Given the description of an element on the screen output the (x, y) to click on. 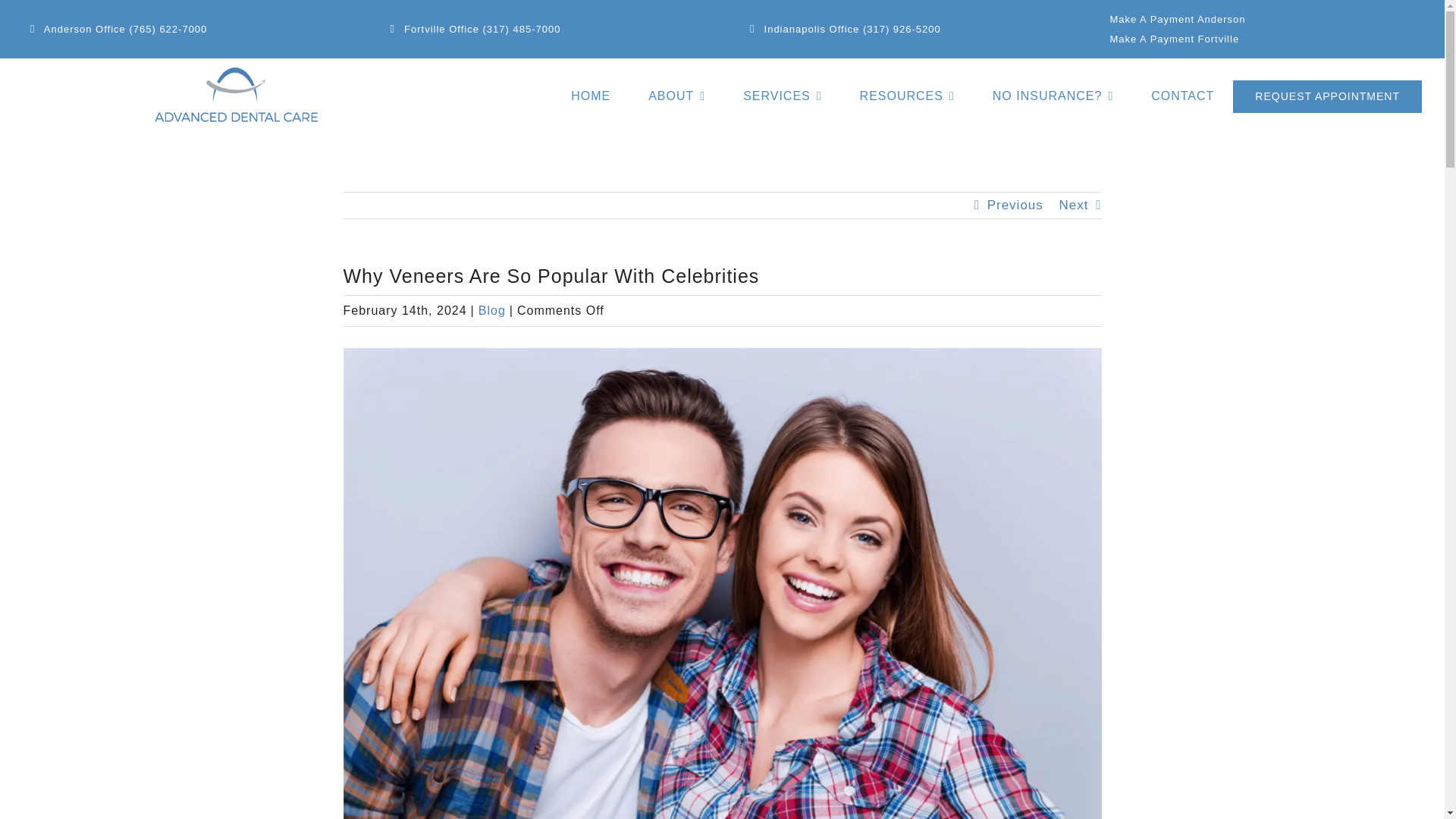
HOME (589, 96)
Make A Payment Anderson (1176, 19)
SERVICES (781, 96)
ABOUT (675, 96)
Make A Payment Fortville (1174, 39)
